Given the description of an element on the screen output the (x, y) to click on. 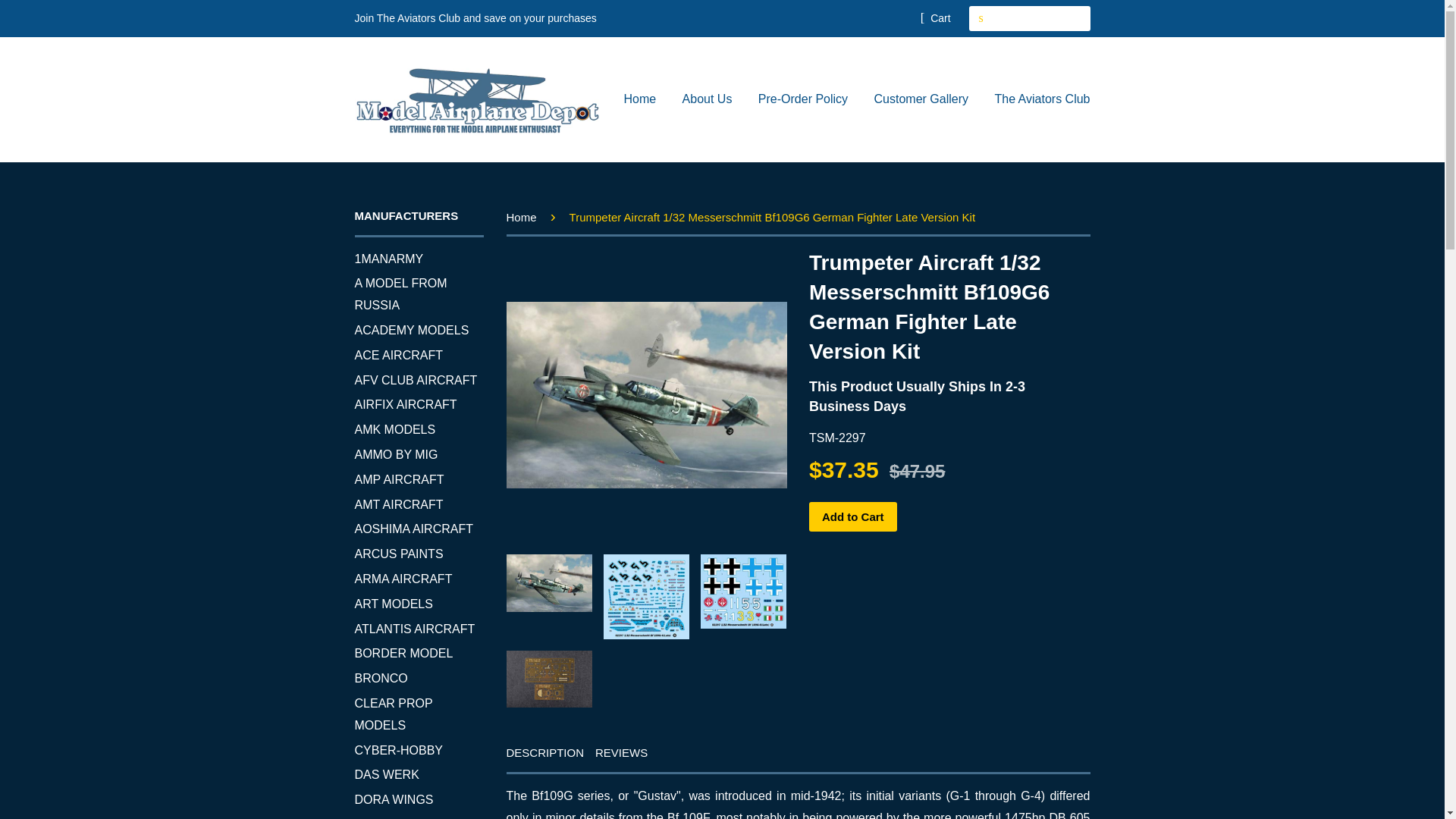
Cart (935, 17)
Search (980, 18)
Back to the frontpage (523, 216)
